Given the description of an element on the screen output the (x, y) to click on. 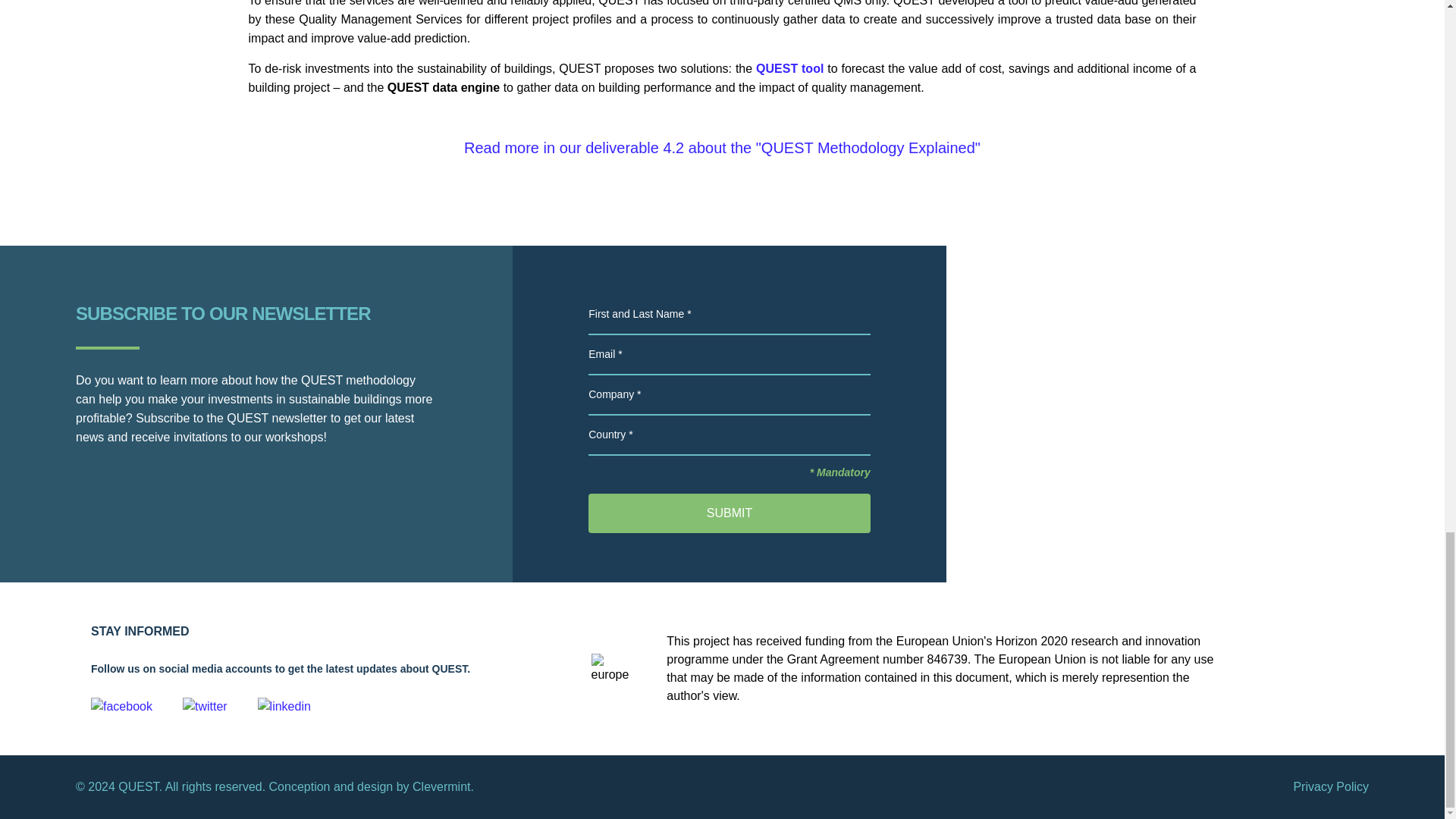
QUEST tool (789, 68)
SUBMIT (729, 513)
Privacy Policy (1330, 786)
